Given the description of an element on the screen output the (x, y) to click on. 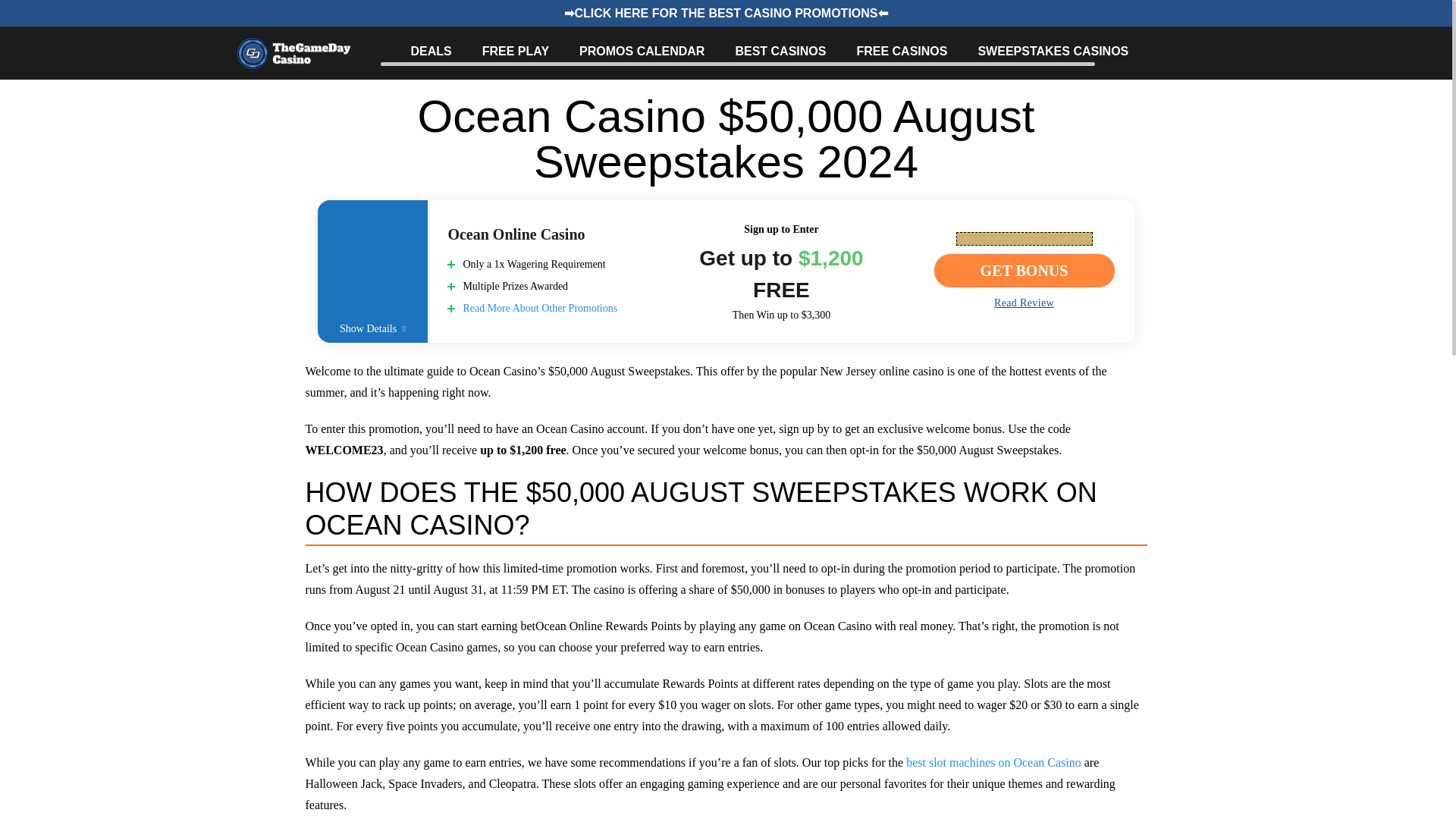
BEST CASINOS (780, 51)
FREE CASINOS (901, 51)
FREE PLAY (514, 51)
DEALS (430, 51)
PROMOS CALENDAR (641, 51)
SWEEPSTAKES CASINOS (1052, 51)
GAMES (1181, 51)
